Given the description of an element on the screen output the (x, y) to click on. 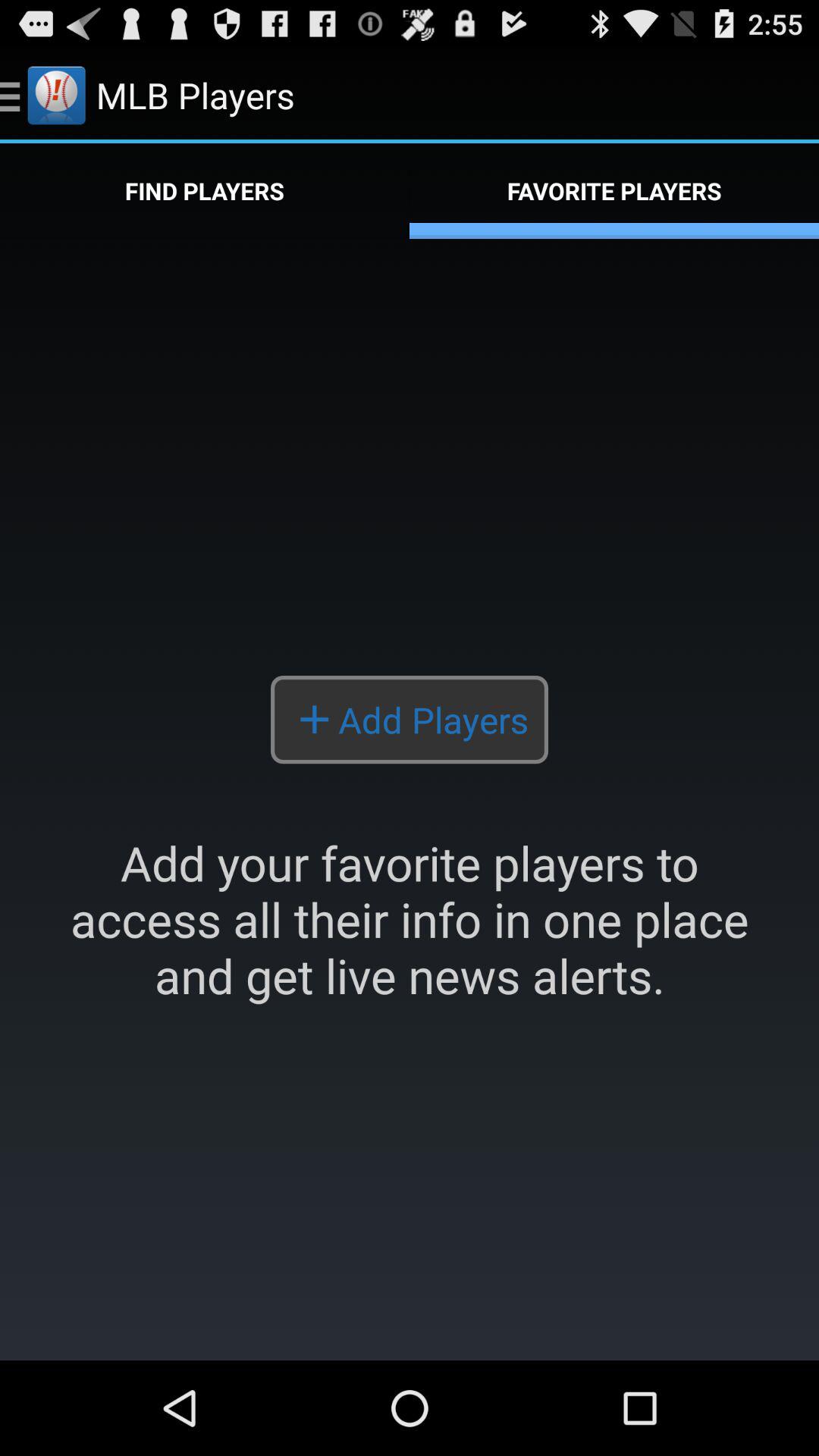
select find players icon (204, 190)
